Given the description of an element on the screen output the (x, y) to click on. 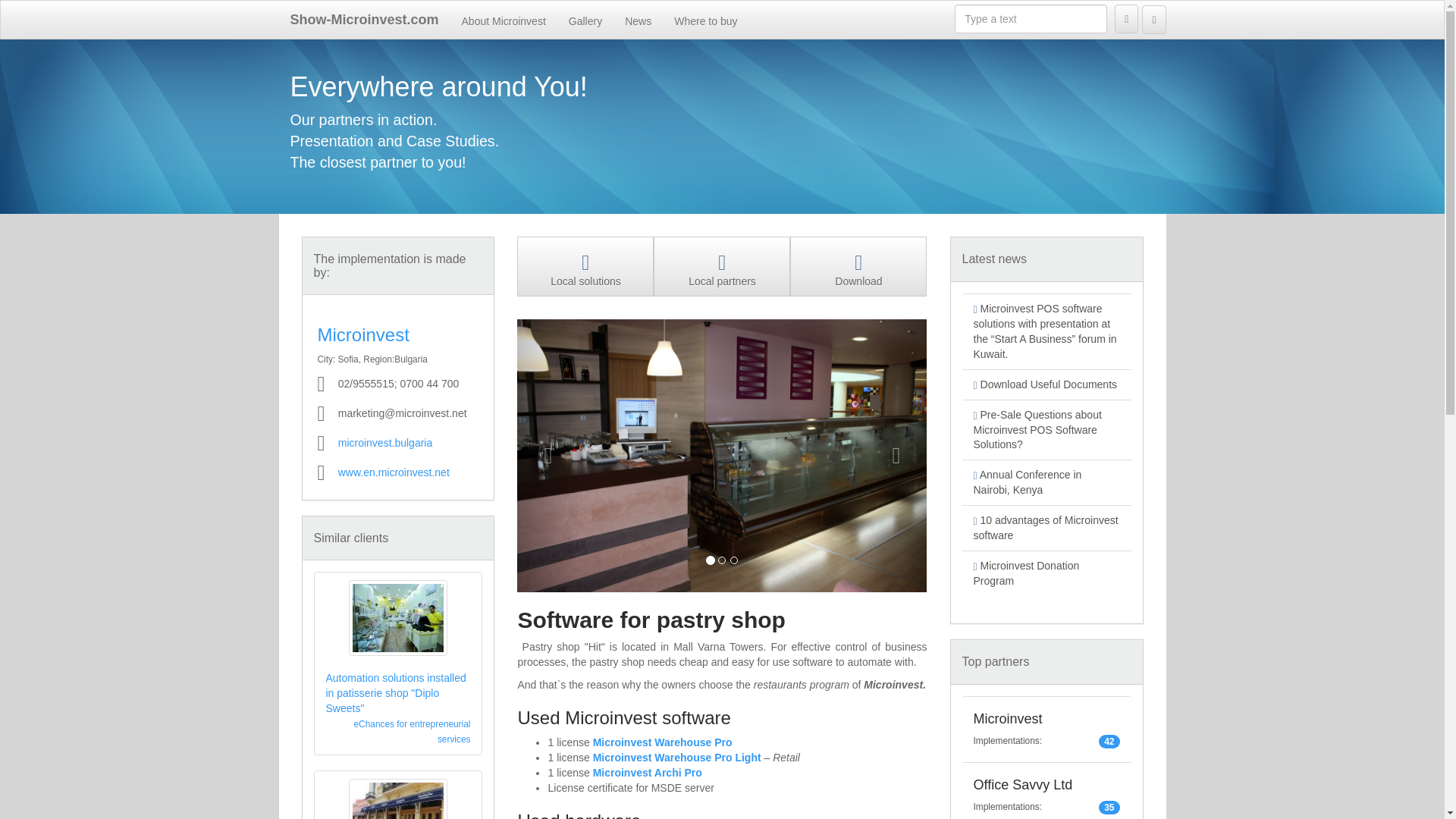
About Microinvest (503, 19)
News (637, 19)
Microinvest (363, 334)
Show-Microinvest.com (364, 19)
www.en.microinvest.net (393, 472)
eChances for entrepreneurial services (411, 730)
